Given the description of an element on the screen output the (x, y) to click on. 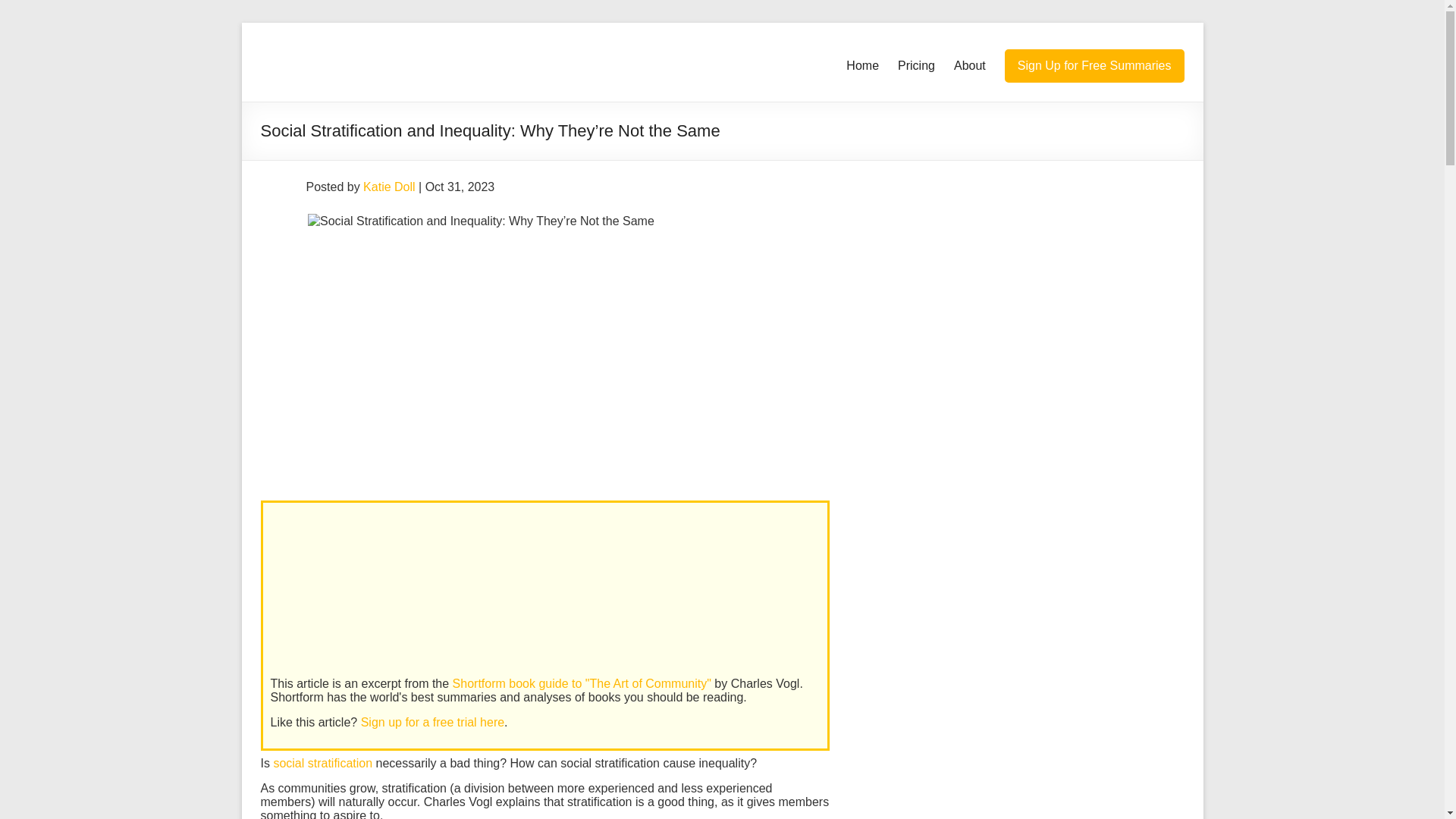
Sign up for a free trial here (432, 721)
About (969, 65)
Katie Doll (388, 186)
Pricing (916, 65)
Shortform book guide to "The Art of Community" (581, 683)
Home (862, 65)
Sign Up for Free Summaries (1094, 65)
social stratification (322, 762)
